Given the description of an element on the screen output the (x, y) to click on. 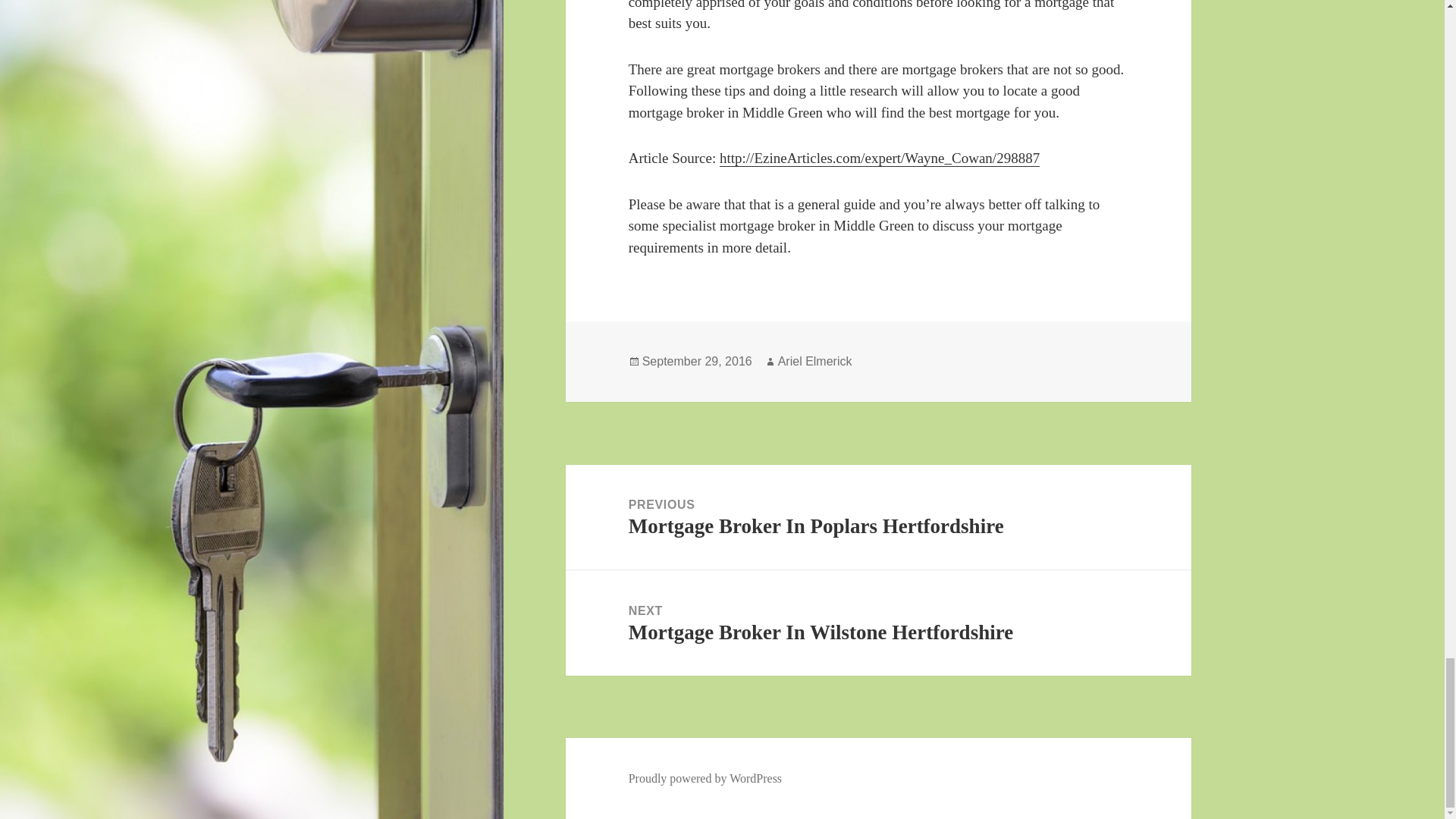
Proudly powered by WordPress (704, 778)
September 29, 2016 (878, 622)
Ariel Elmerick (697, 361)
